Given the description of an element on the screen output the (x, y) to click on. 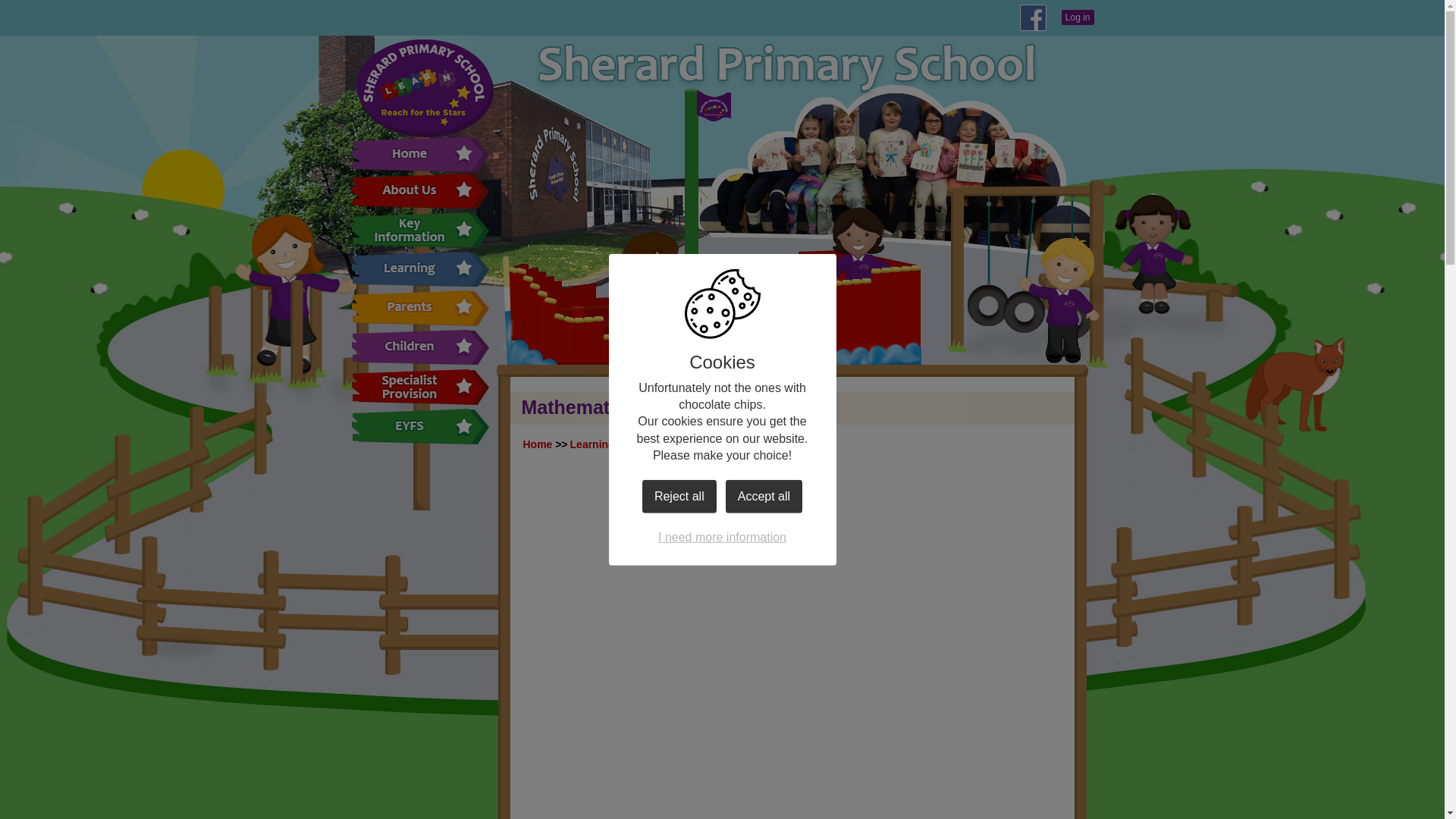
Learning (419, 268)
Home (419, 153)
Key Information (419, 229)
Home Page (424, 88)
Mathematics (738, 444)
About Us (419, 189)
Curriculum (659, 444)
Learning (592, 444)
Log in (1077, 17)
Facebook Link (1033, 17)
Home (537, 444)
Home Page (424, 88)
